Given the description of an element on the screen output the (x, y) to click on. 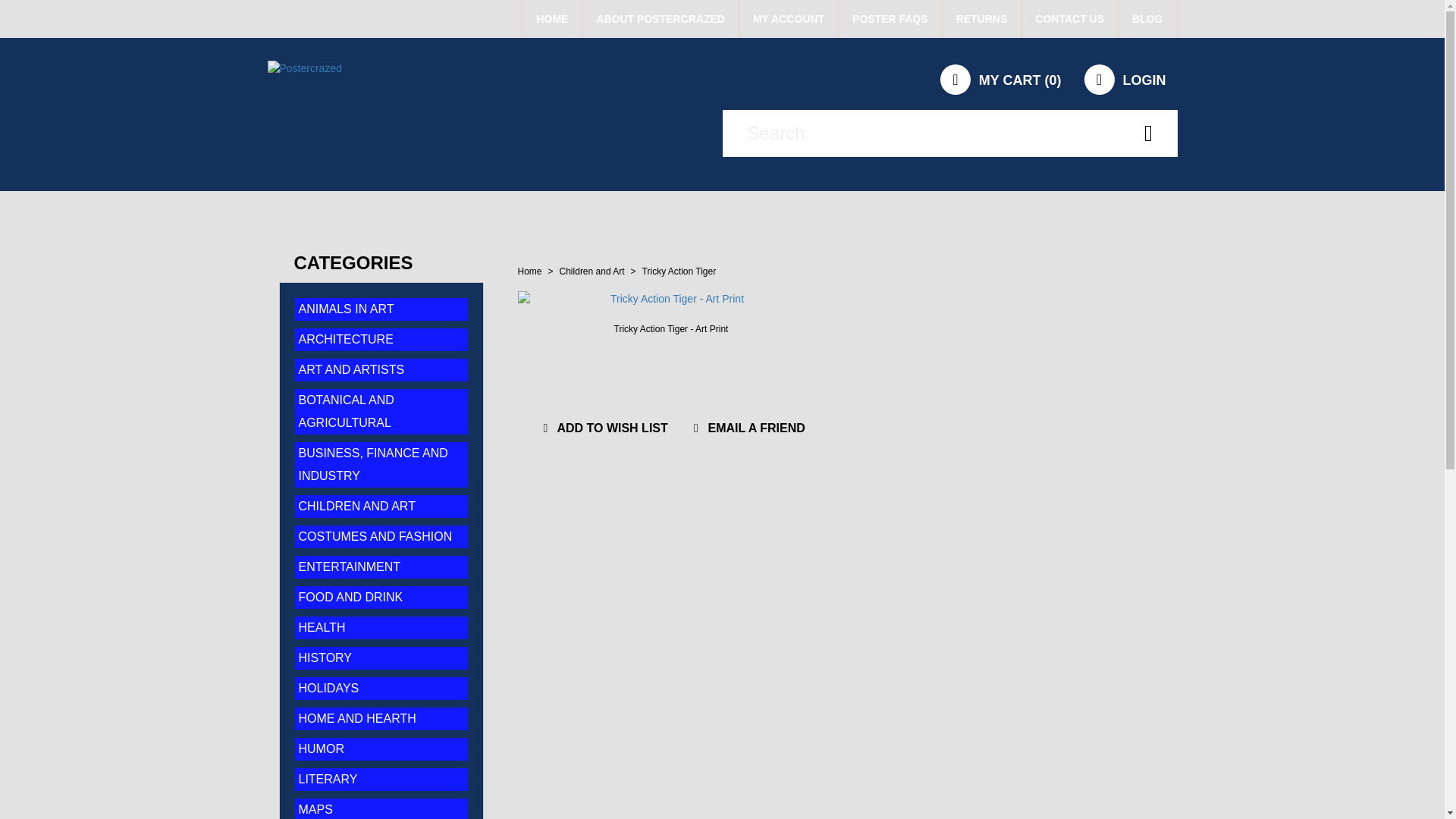
HOLIDAYS (328, 687)
Tricky Action Tiger - Art Print  (670, 328)
MY ACCOUNT (788, 18)
CHILDREN AND ART (356, 505)
BLOG (1147, 18)
ART AND ARTISTS (351, 369)
HOME AND HEARTH (357, 717)
ANIMALS IN ART (346, 308)
HUMOR (320, 748)
ENTERTAINMENT (349, 566)
HOME (551, 18)
FOOD AND DRINK (350, 596)
POSTER FAQS (890, 18)
CONTACT US (1070, 18)
ARCHITECTURE (345, 338)
